Given the description of an element on the screen output the (x, y) to click on. 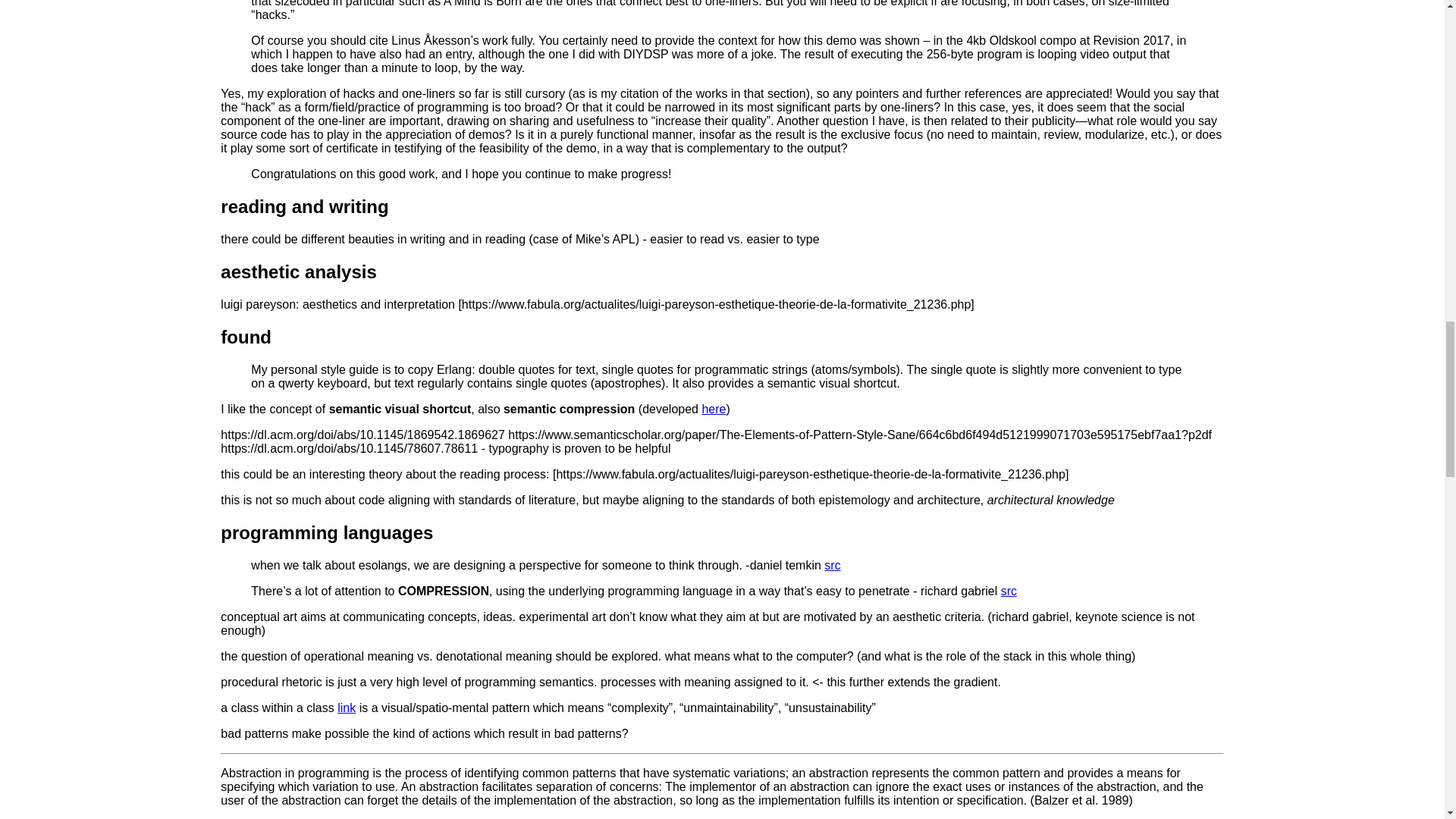
here (713, 408)
link (346, 707)
src (832, 564)
src (1008, 590)
